Given the description of an element on the screen output the (x, y) to click on. 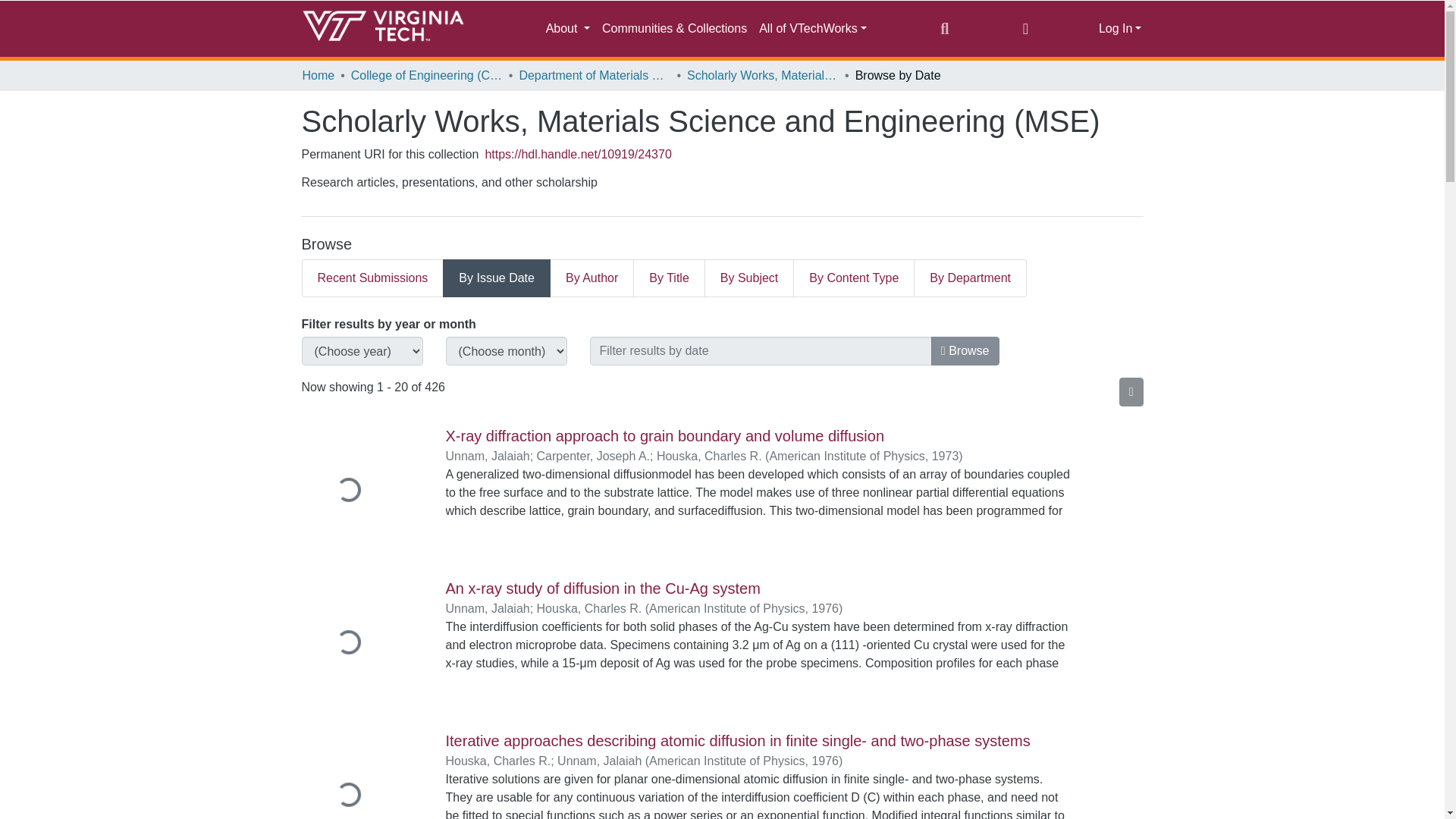
By Issue Date (496, 278)
By Subject (748, 278)
By Author (591, 278)
By Content Type (853, 278)
By Department (970, 278)
Log In (1119, 28)
Recent Submissions (372, 278)
By Title (668, 278)
All of VTechWorks (812, 28)
Home (317, 75)
